Given the description of an element on the screen output the (x, y) to click on. 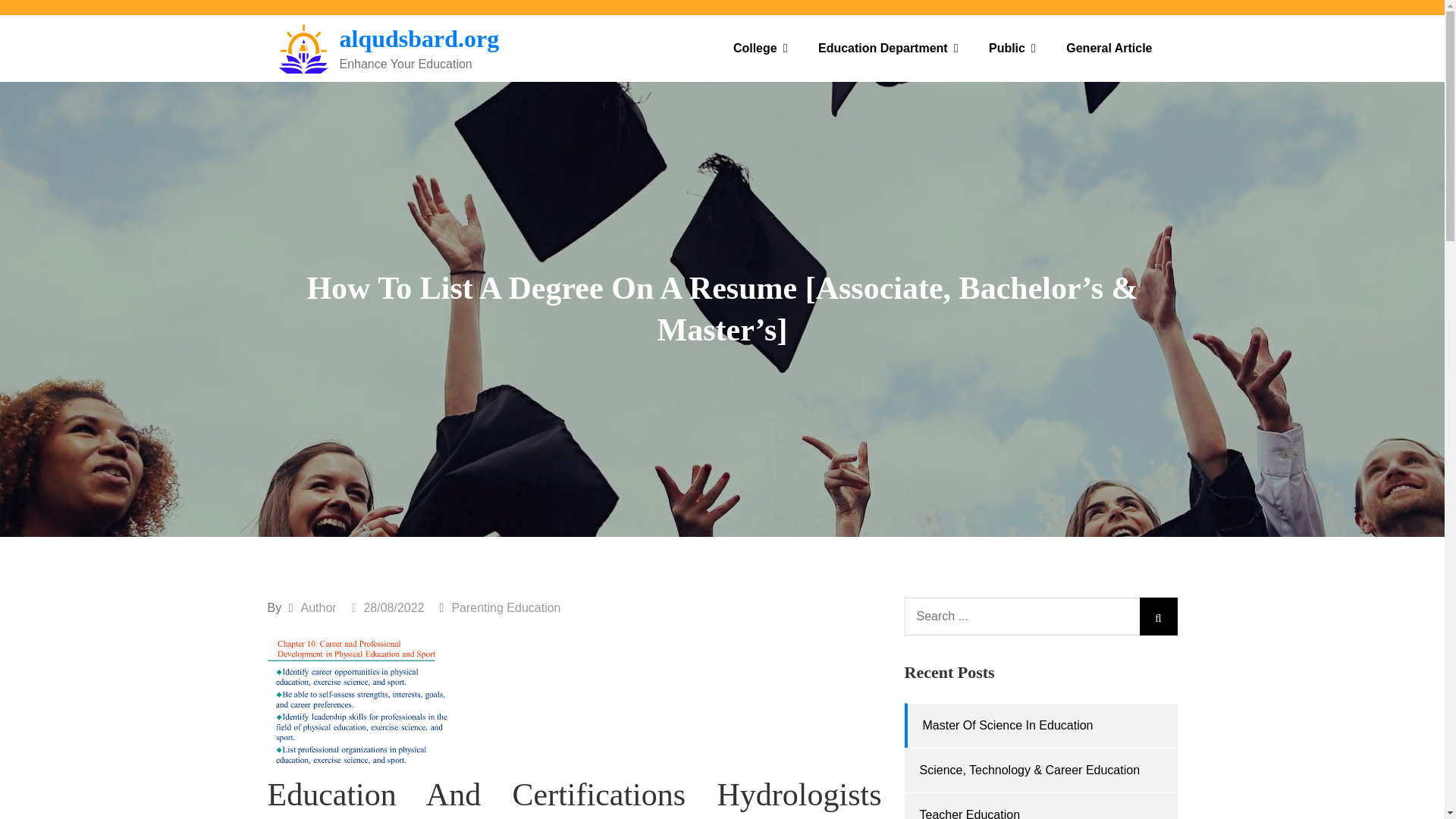
Education Department (888, 48)
General Article (1109, 48)
alqudsbard.org (419, 38)
Search (1157, 616)
Search for: (1040, 616)
Public (1012, 48)
Author (317, 607)
College (760, 48)
Parenting Education (505, 607)
